Given the description of an element on the screen output the (x, y) to click on. 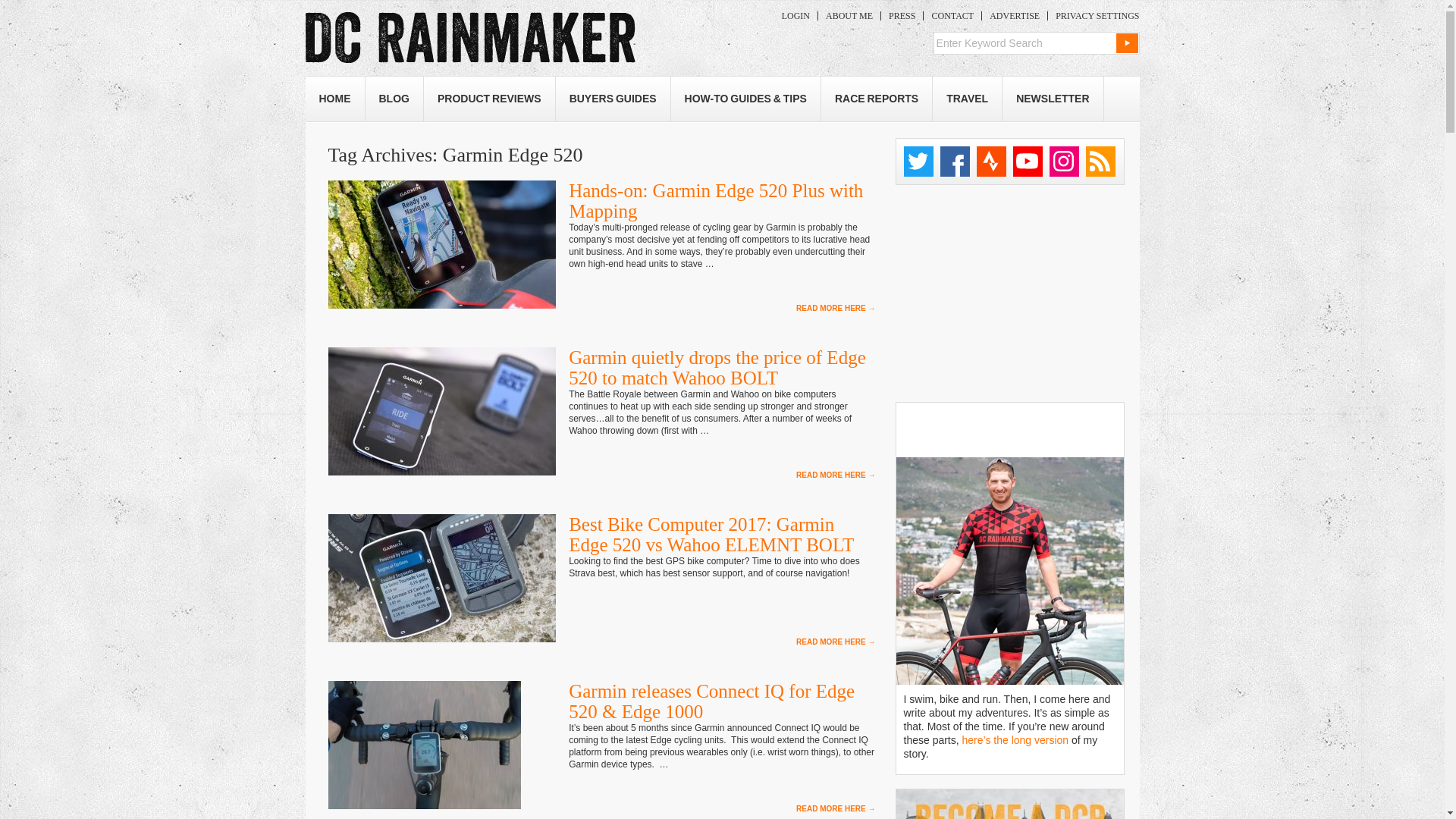
ADVERTISE (1013, 15)
Search (1127, 43)
PRODUCT REVIEWS (488, 98)
CONTACT (952, 15)
Search (1127, 43)
Permalink to Hands-on: Garmin Edge 520 Plus with Mapping (716, 200)
ABOUT ME (849, 15)
PRIVACY SETTINGS (1093, 15)
